Given the description of an element on the screen output the (x, y) to click on. 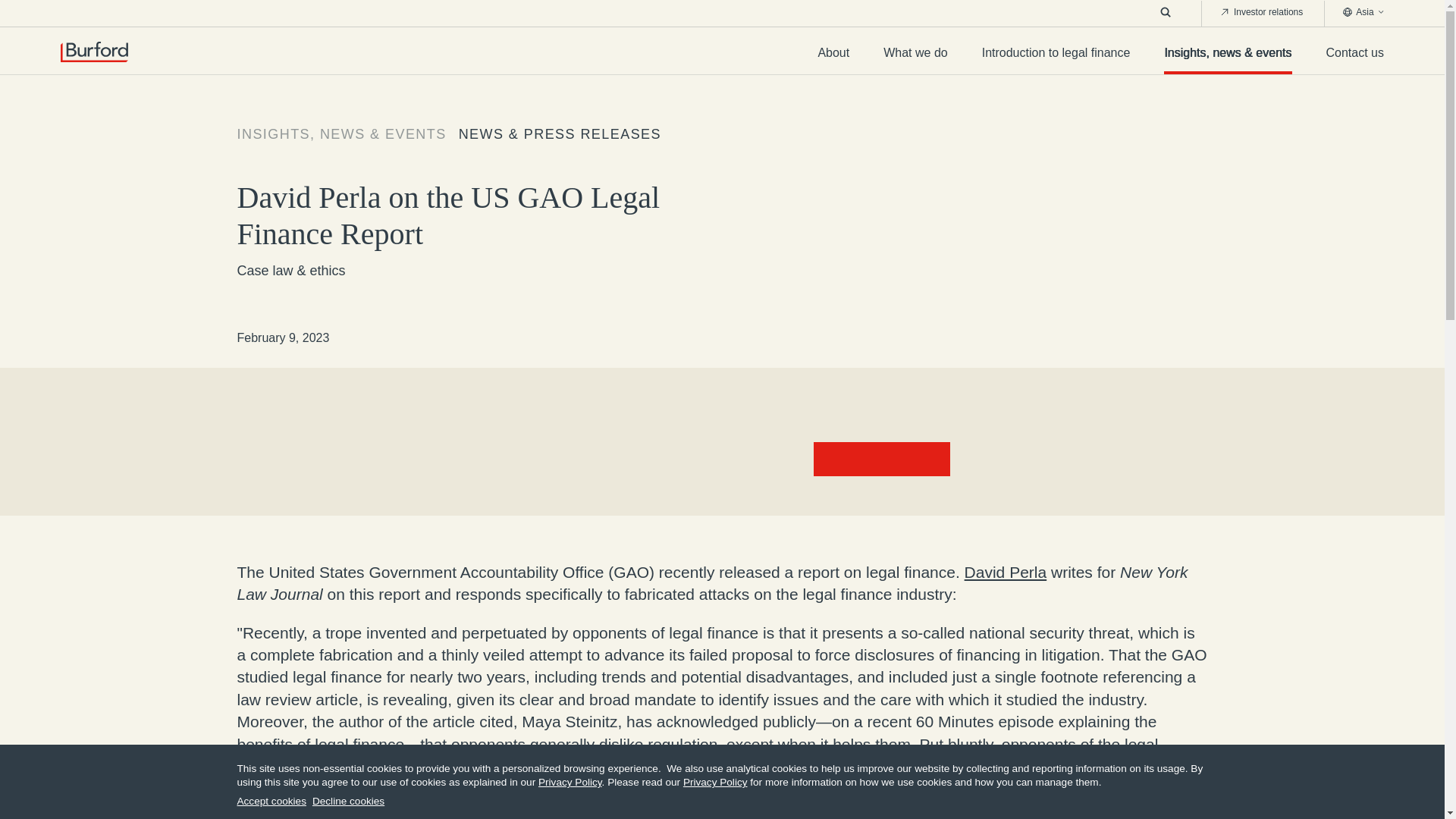
Share David Perla on GAO Report in NYLJ on LinkedIn (864, 458)
Post about David Perla on GAO Report in NYLJ (830, 458)
David Perla (1004, 571)
Print David Perla on GAO Report in NYLJ (932, 458)
Privacy Policy (570, 781)
Email David Perla on GAO Report in NYLJ (898, 458)
About (832, 58)
Introduction to legal finance (1056, 58)
Privacy Policy (715, 781)
What we do (915, 58)
